Given the description of an element on the screen output the (x, y) to click on. 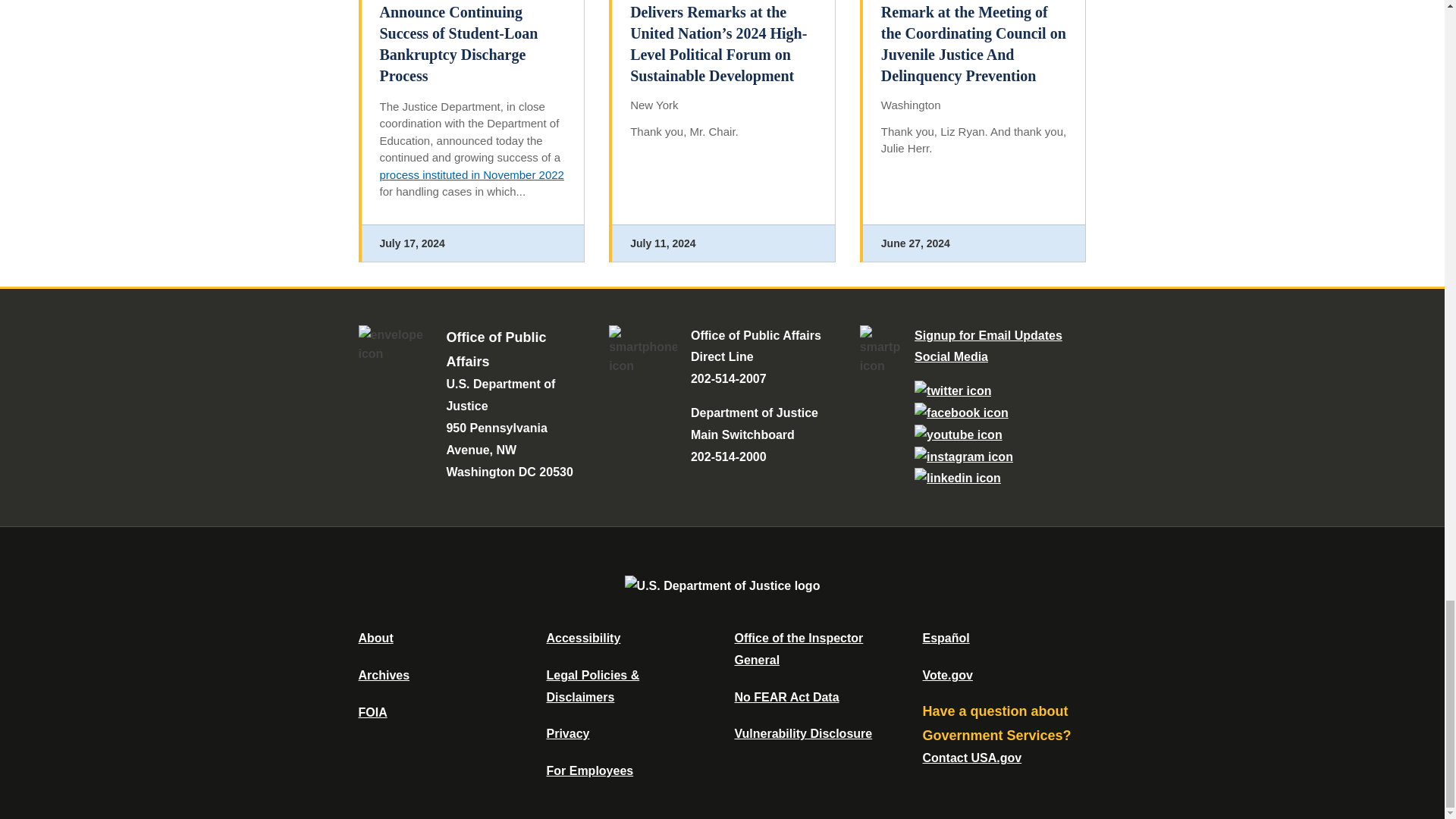
Department of Justice Archive (383, 675)
Legal Policies and Disclaimers (592, 686)
Office of Information Policy (372, 712)
For Employees (589, 770)
Accessibility Statement (583, 637)
About DOJ (375, 637)
Data Posted Pursuant To The No Fear Act (785, 697)
